Given the description of an element on the screen output the (x, y) to click on. 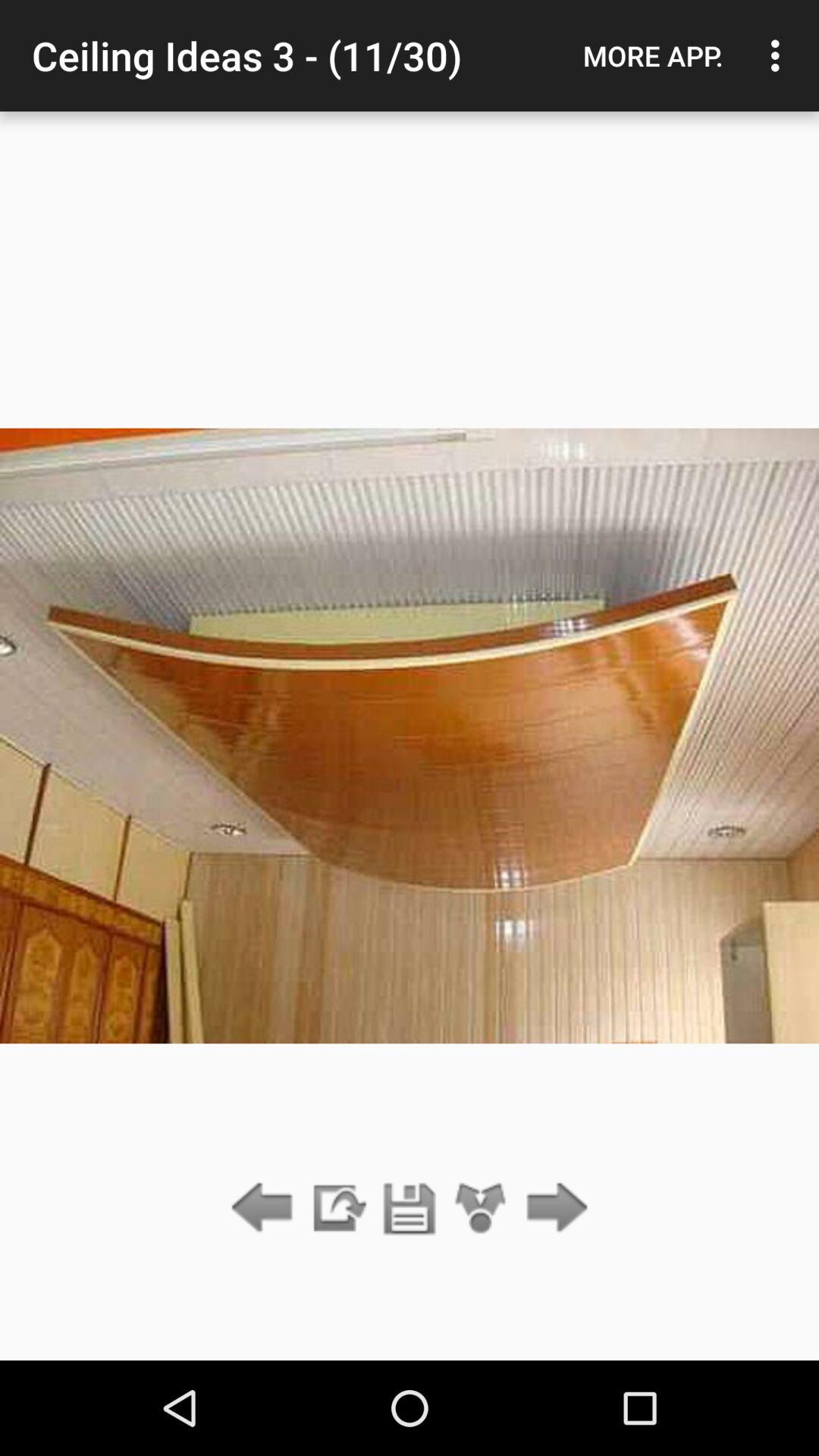
launch the more app. item (653, 55)
